Given the description of an element on the screen output the (x, y) to click on. 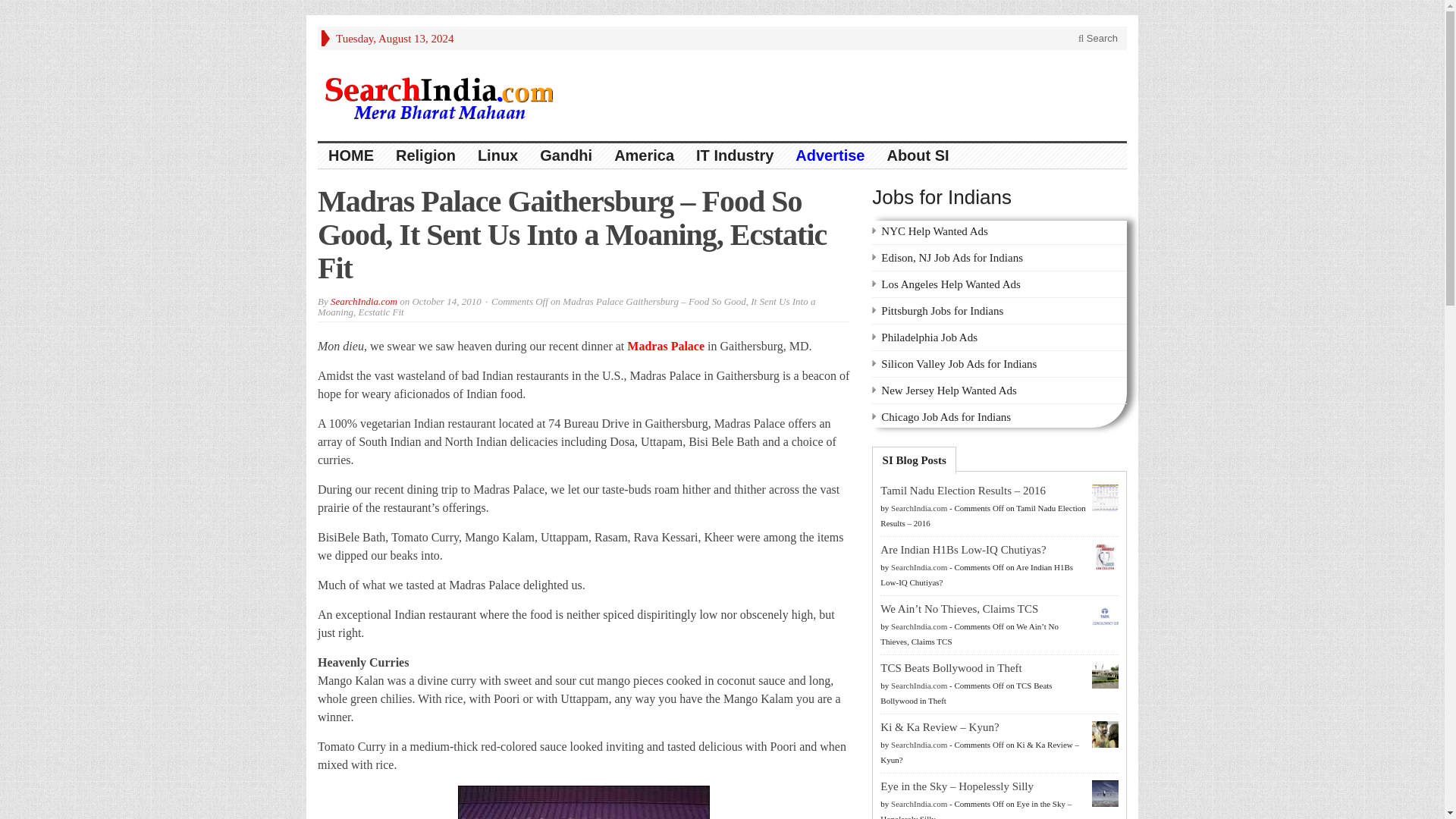
Posts by SearchIndia.com (919, 685)
HOME (351, 155)
IT Industry (734, 155)
Los Angeles Help Wanted Ads (950, 284)
Search (1097, 37)
Advertise (830, 155)
New Jersey Help Wanted Ads (948, 390)
Chicago Job Ads for Indians (945, 417)
Silicon Valley Job Ads for Indians (958, 363)
SI Blog Posts (914, 460)
